Given the description of an element on the screen output the (x, y) to click on. 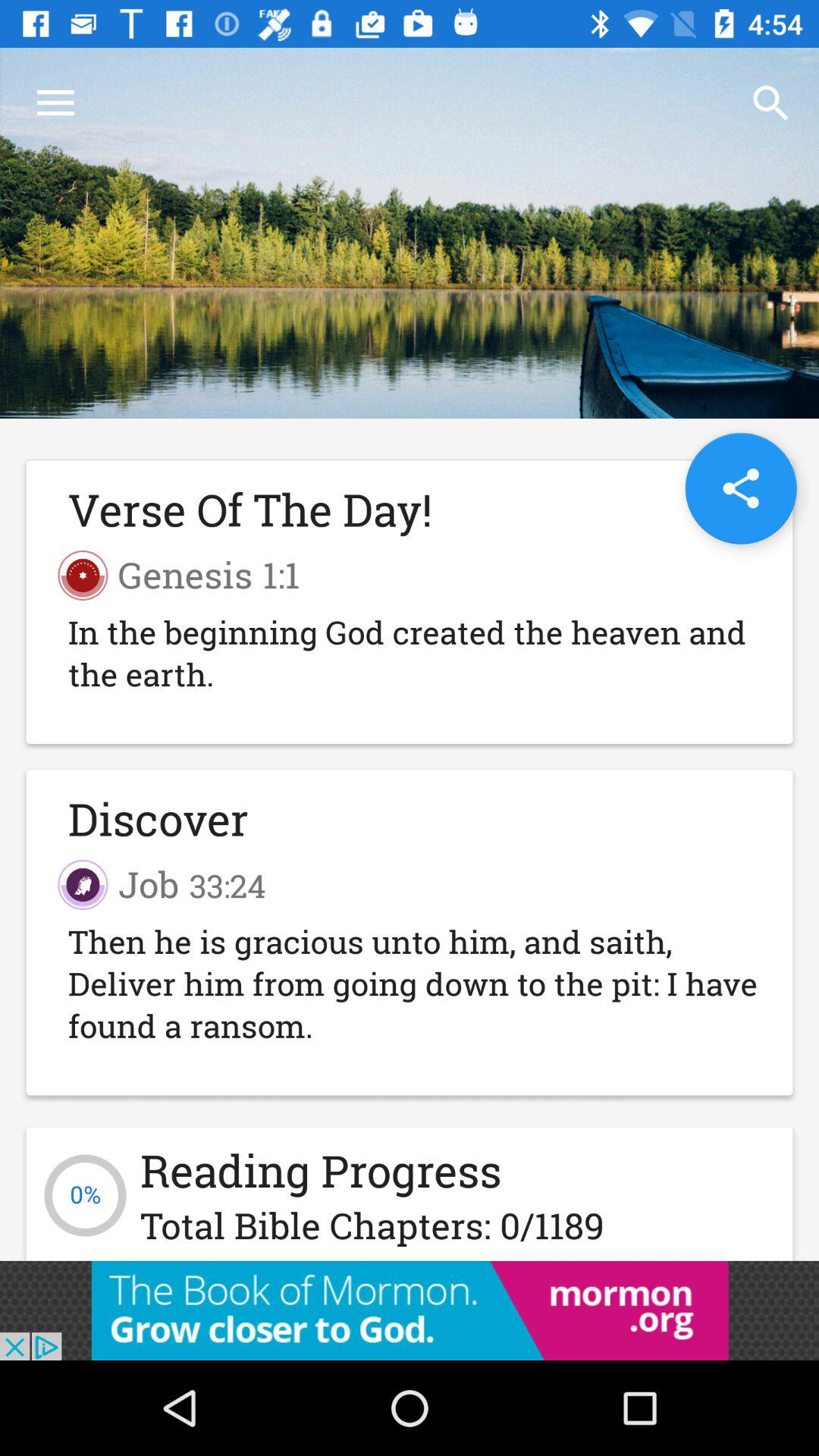
share on android (740, 488)
